Given the description of an element on the screen output the (x, y) to click on. 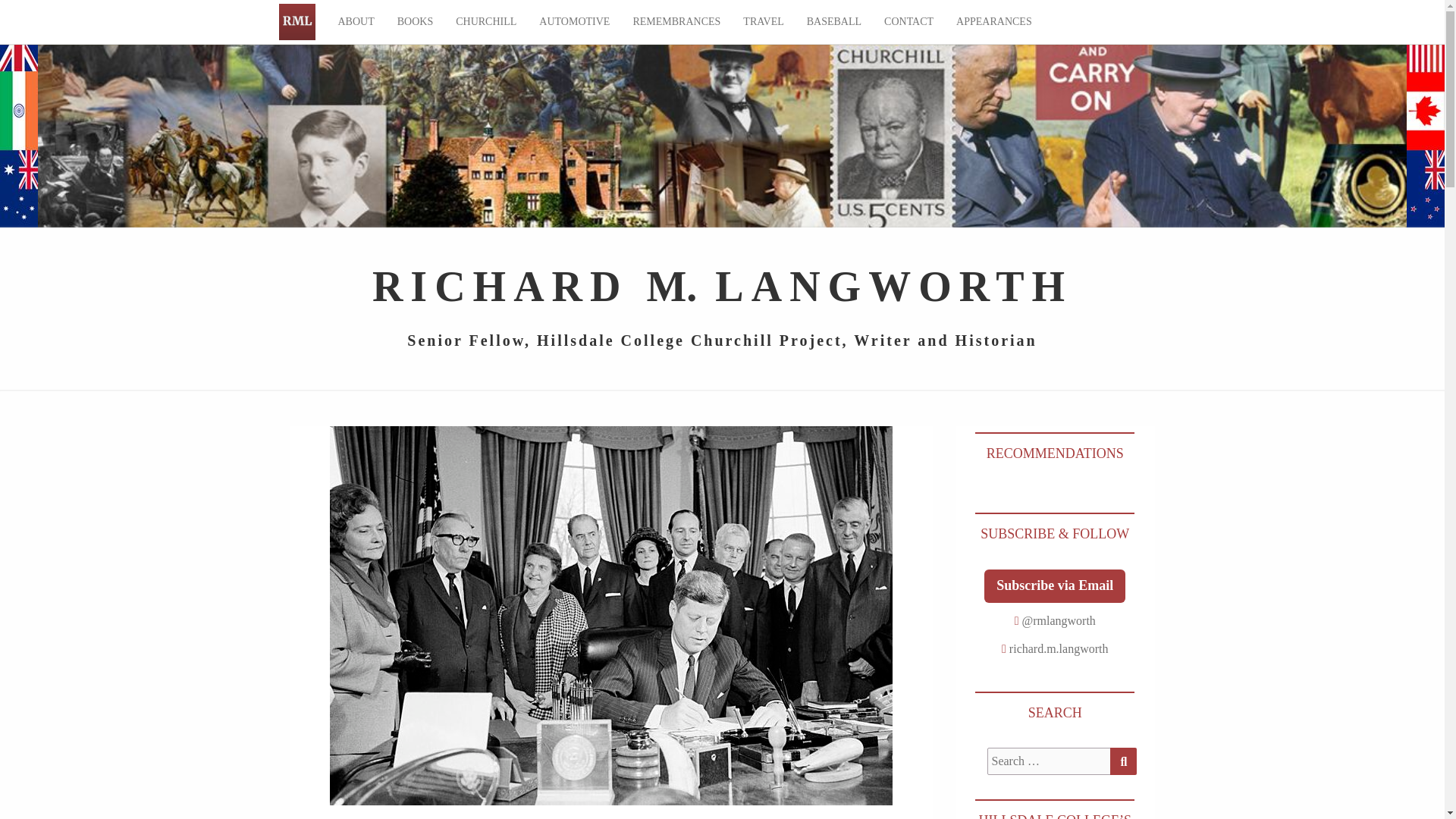
Travel (763, 22)
CHURCHILL (485, 22)
About (355, 22)
APPEARANCES (993, 22)
TRAVEL (763, 22)
BASEBALL (833, 22)
Churchill (485, 22)
Appearances (993, 22)
REMEMBRANCES (676, 22)
